Given the description of an element on the screen output the (x, y) to click on. 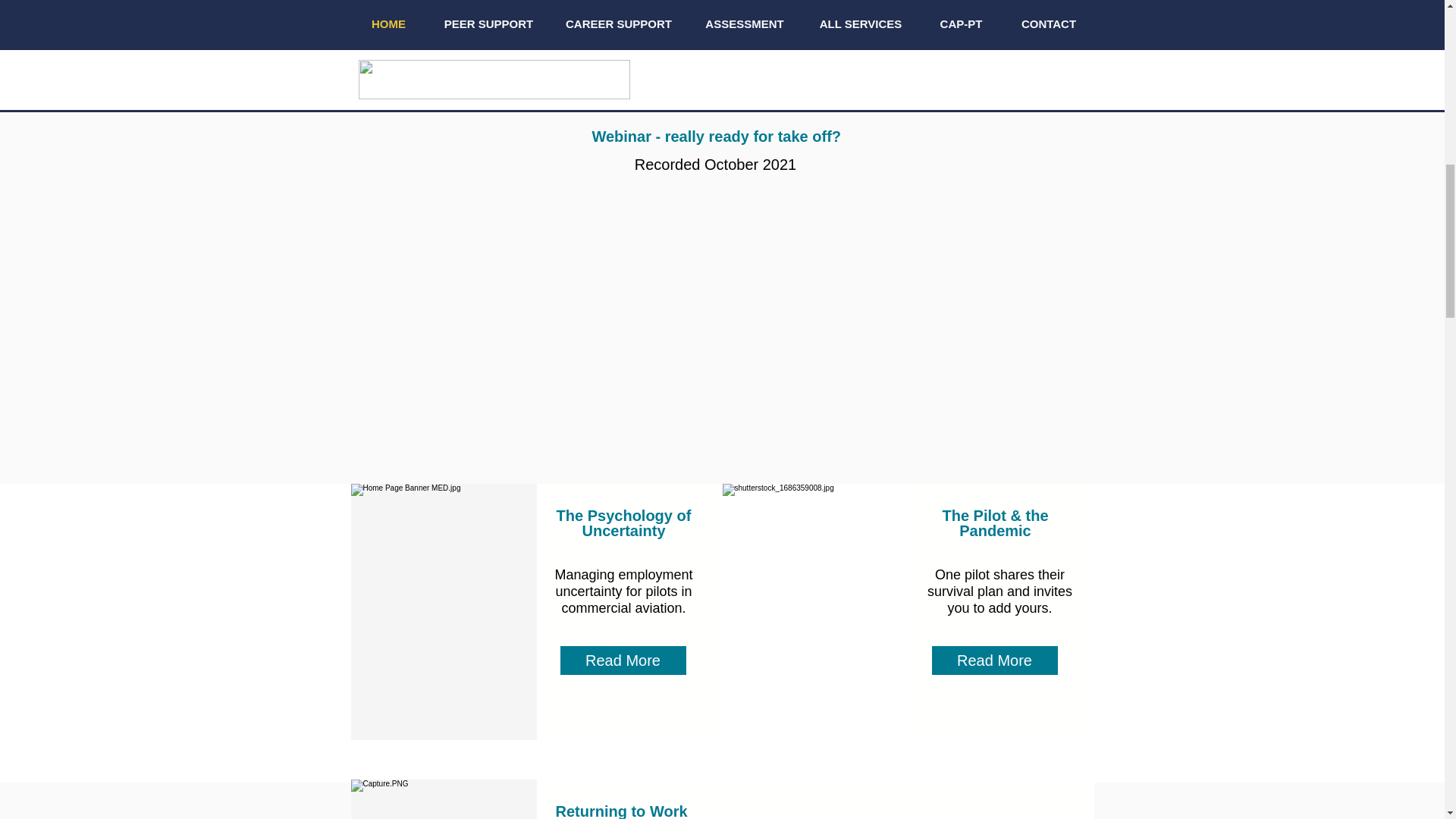
Read More (623, 660)
Read More (994, 660)
